Given the description of an element on the screen output the (x, y) to click on. 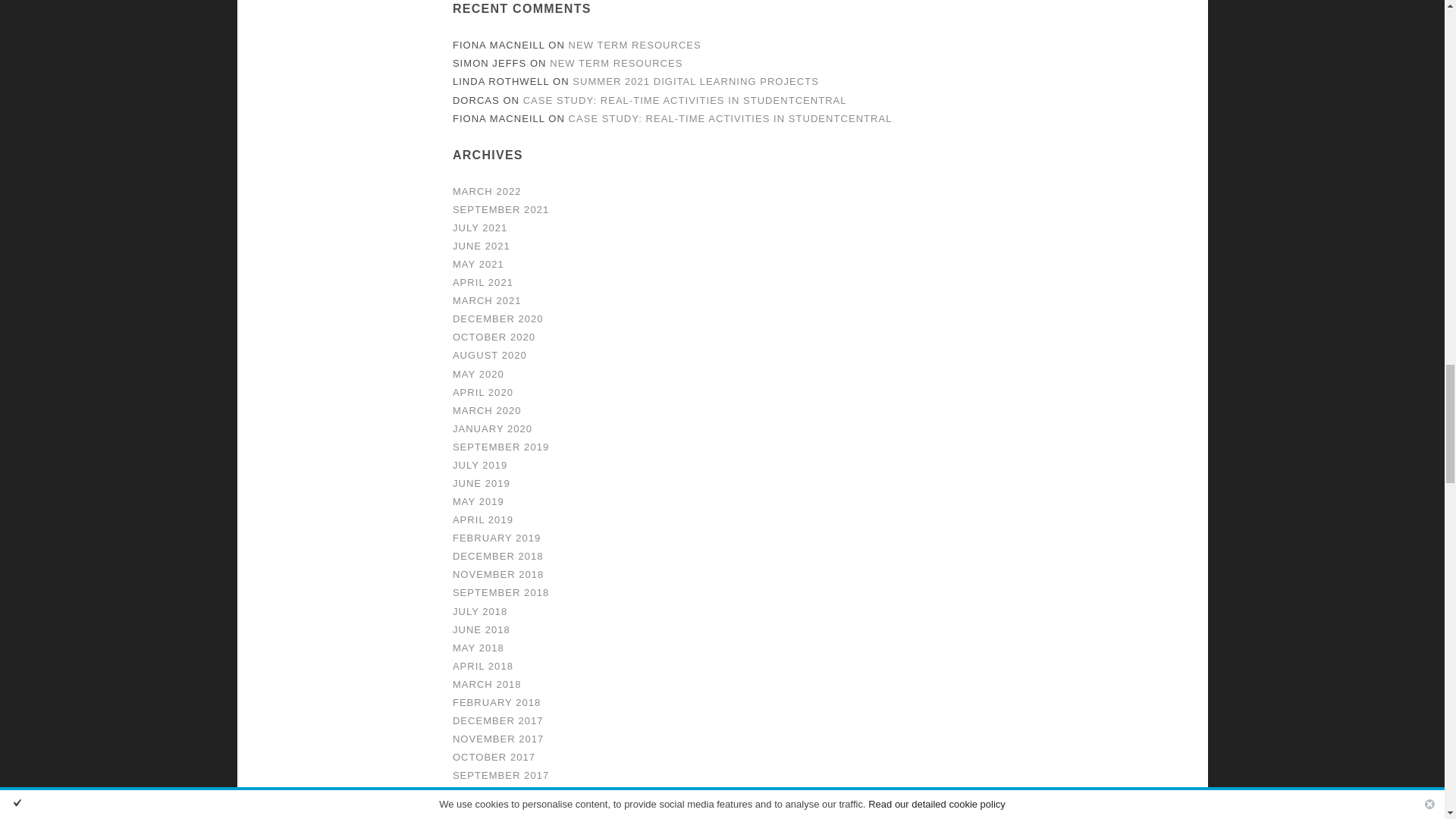
MAY 2021 (477, 264)
NEW TERM RESOURCES (616, 62)
NEW TERM RESOURCES (635, 44)
MARCH 2022 (486, 191)
JULY 2021 (480, 227)
JUNE 2021 (481, 245)
CASE STUDY: REAL-TIME ACTIVITIES IN STUDENTCENTRAL (730, 118)
SUMMER 2021 DIGITAL LEARNING PROJECTS (695, 81)
CASE STUDY: REAL-TIME ACTIVITIES IN STUDENTCENTRAL (684, 100)
APRIL 2021 (482, 282)
SEPTEMBER 2021 (500, 209)
